Given the description of an element on the screen output the (x, y) to click on. 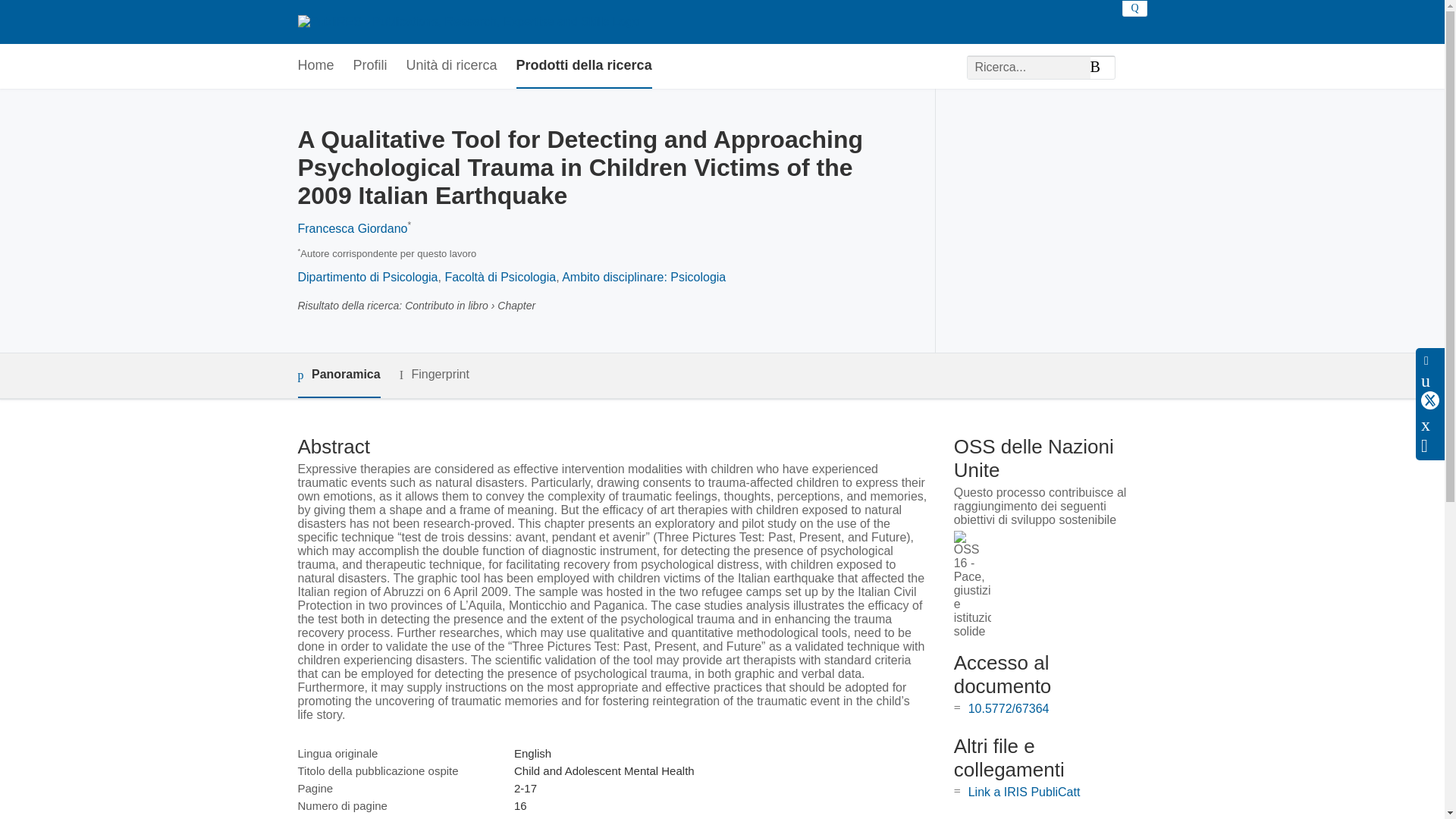
Dipartimento di Psicologia (367, 277)
Fingerprint (433, 374)
Prodotti della ricerca (584, 66)
Francesca Giordano (352, 228)
Link a IRIS PubliCatt (1024, 791)
PubliRES - Publications, Research, Expertise and Skills Home (468, 21)
Ambito disciplinare: Psicologia (643, 277)
Panoramica (338, 375)
